Given the description of an element on the screen output the (x, y) to click on. 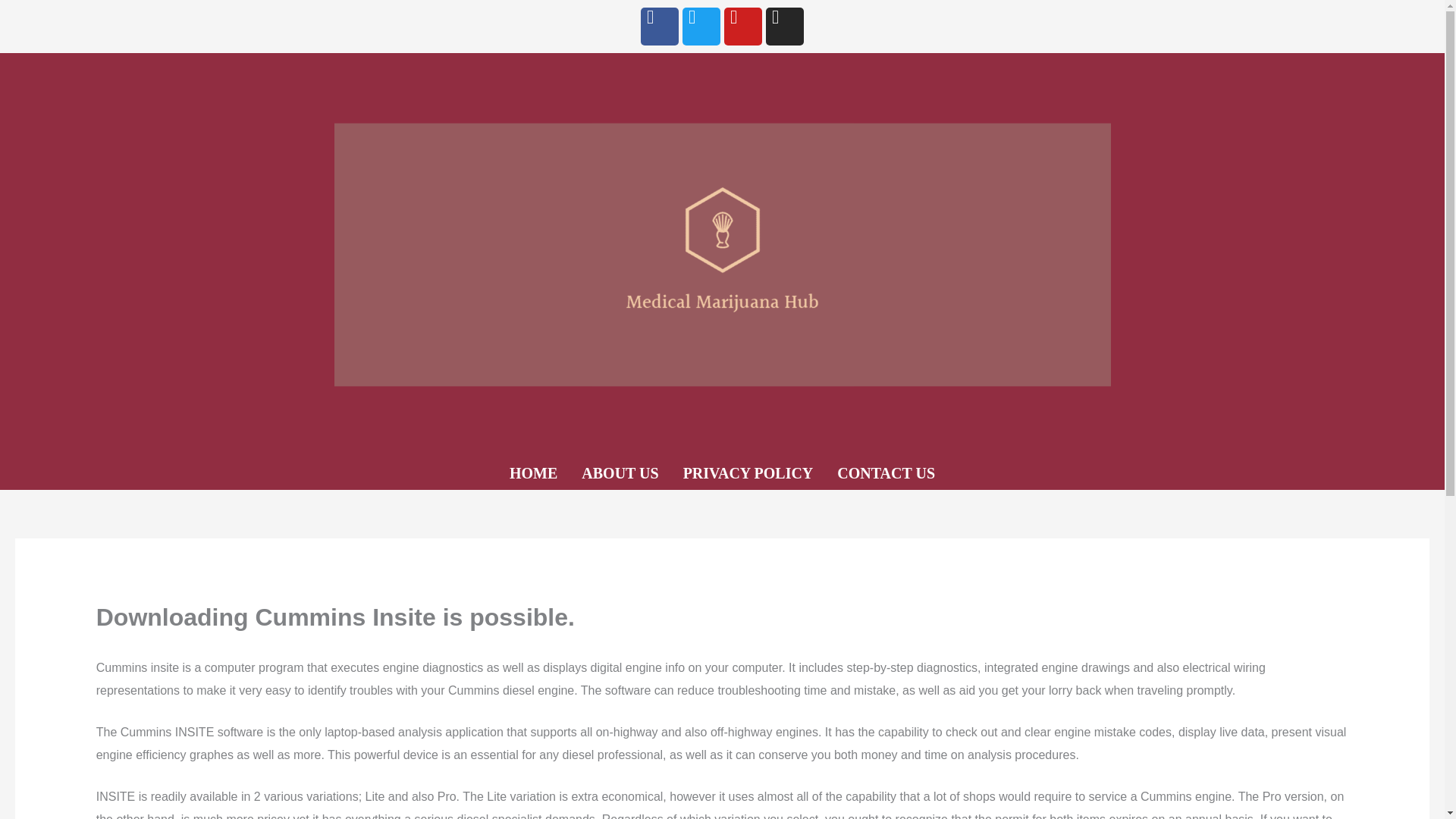
CONTACT US (886, 473)
HOME (533, 473)
PRIVACY POLICY (748, 473)
ABOUT US (619, 473)
